Given the description of an element on the screen output the (x, y) to click on. 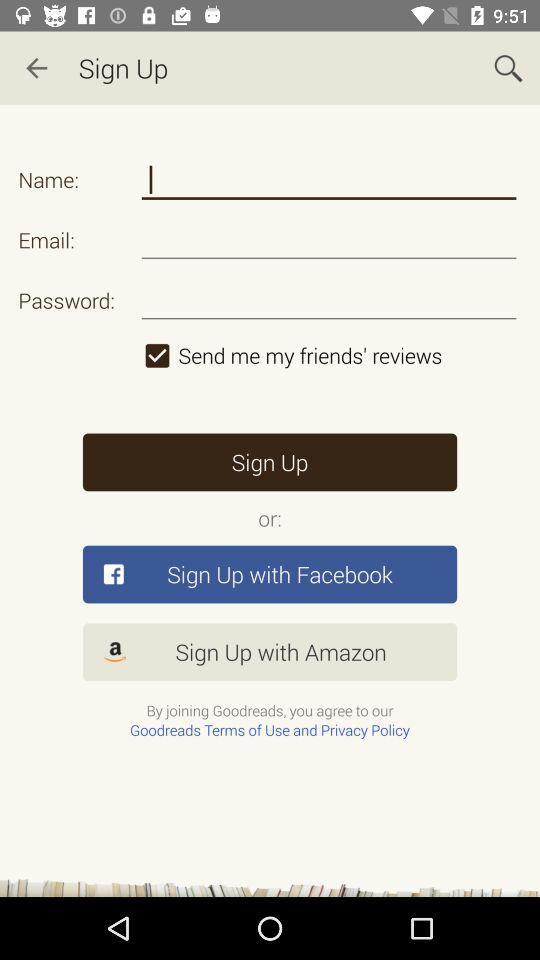
typing space button (328, 179)
